Given the description of an element on the screen output the (x, y) to click on. 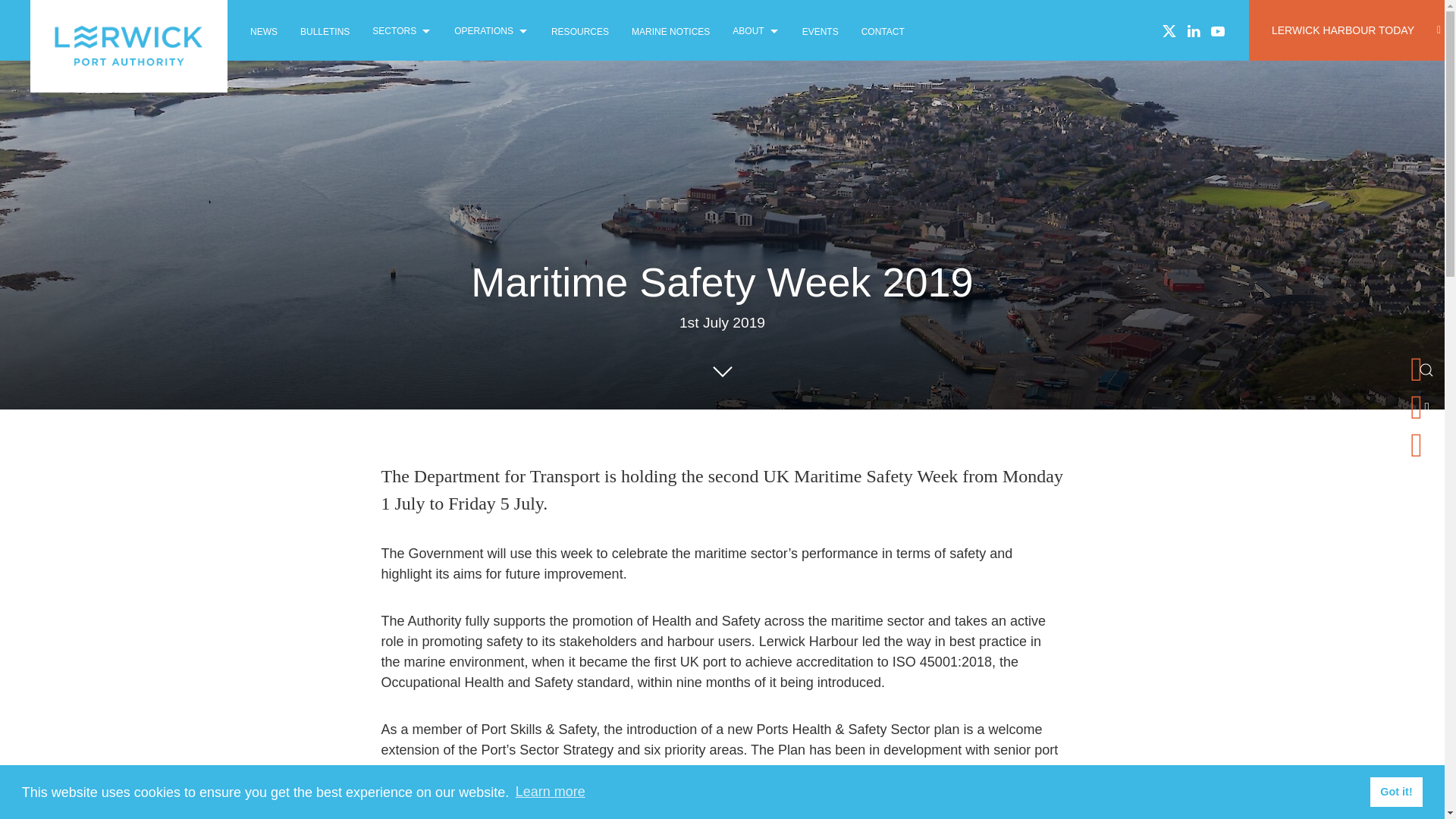
BULLETINS (324, 30)
SECTORS (401, 30)
Learn more (550, 791)
Got it! (1396, 791)
